Given the description of an element on the screen output the (x, y) to click on. 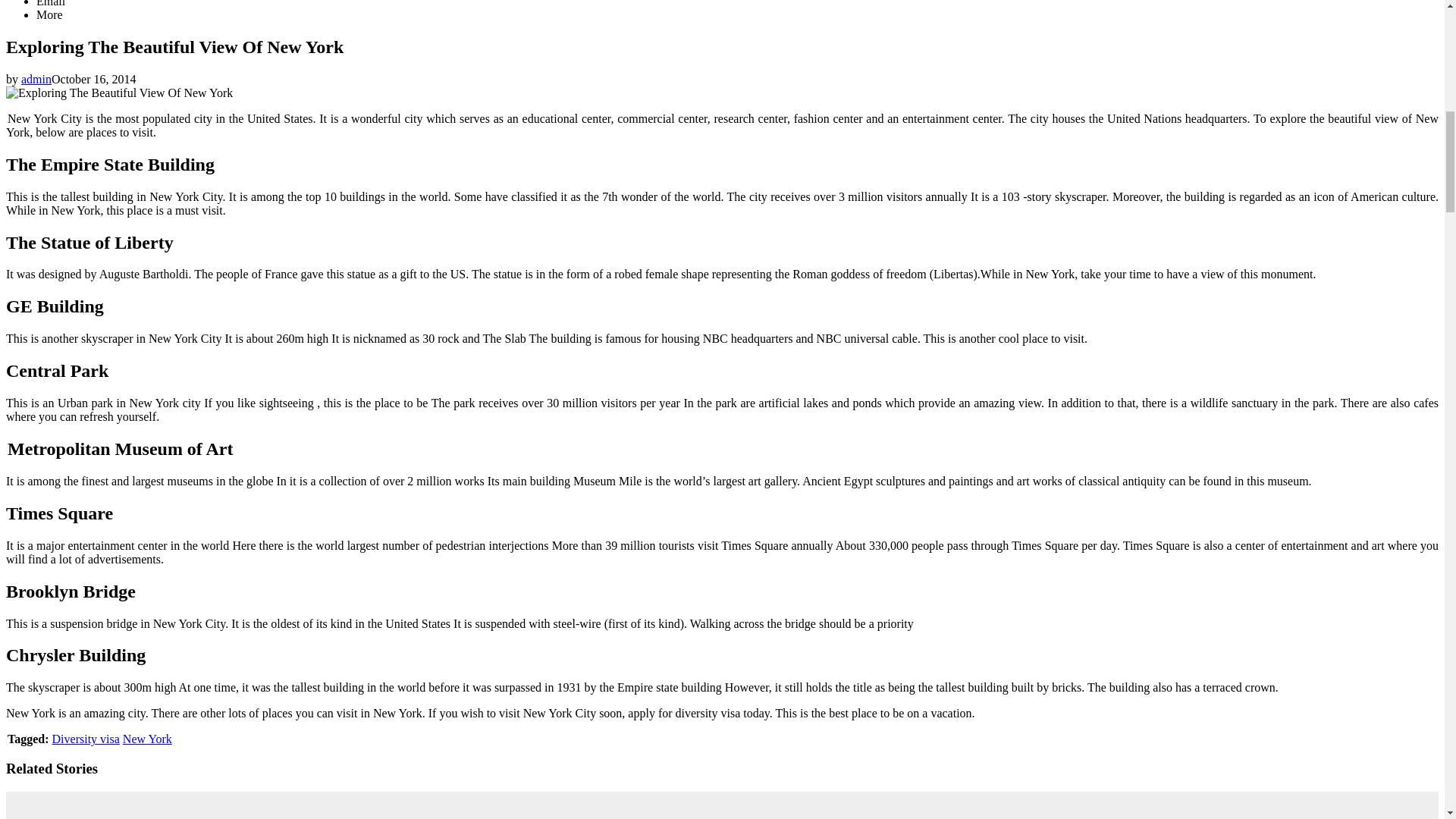
More (49, 14)
More (49, 14)
Share via Email (50, 3)
Email (50, 3)
